Given the description of an element on the screen output the (x, y) to click on. 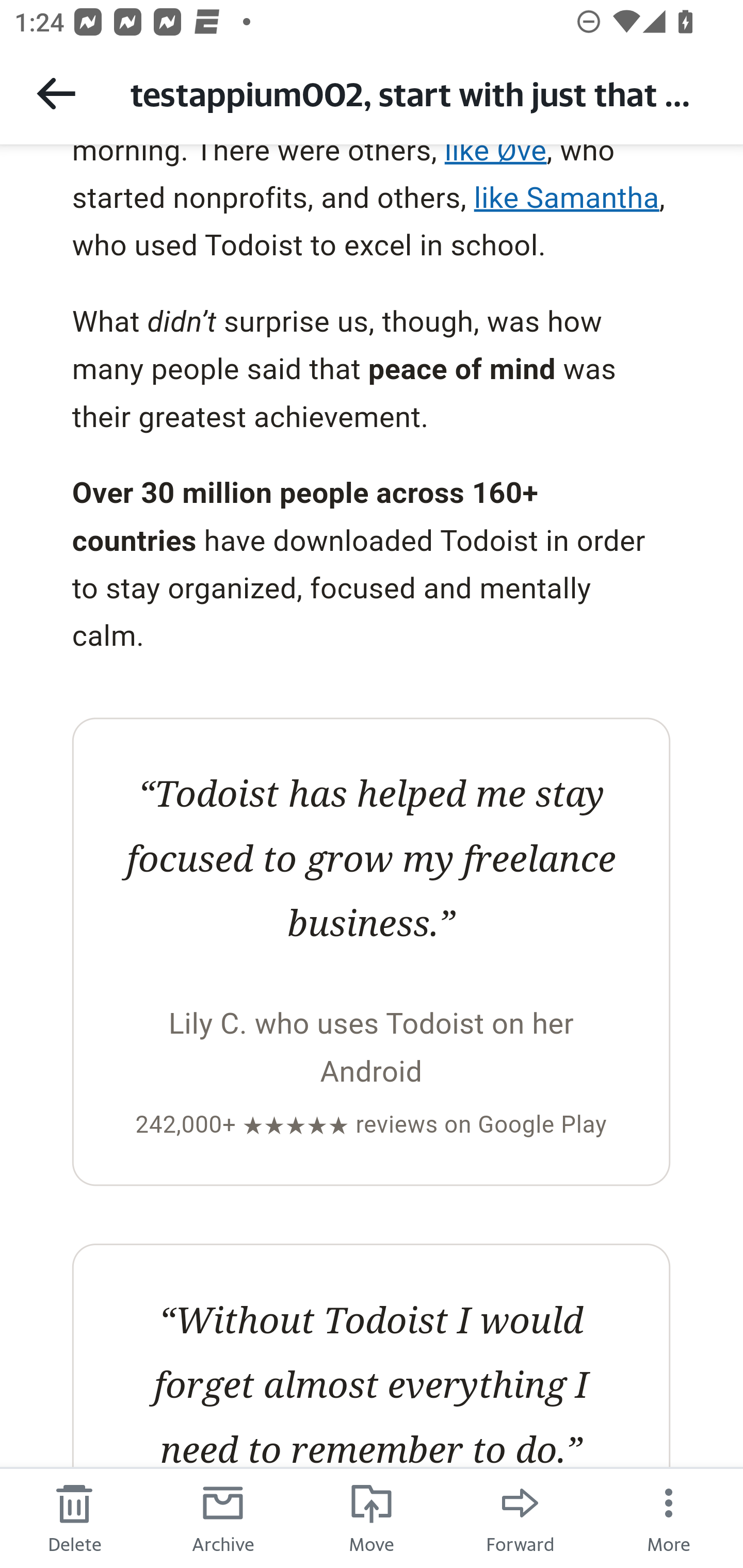
Back (55, 92)
like Øve (495, 156)
like Samantha (566, 197)
Delete (74, 1517)
Archive (222, 1517)
Move (371, 1517)
Forward (519, 1517)
More (668, 1517)
